Given the description of an element on the screen output the (x, y) to click on. 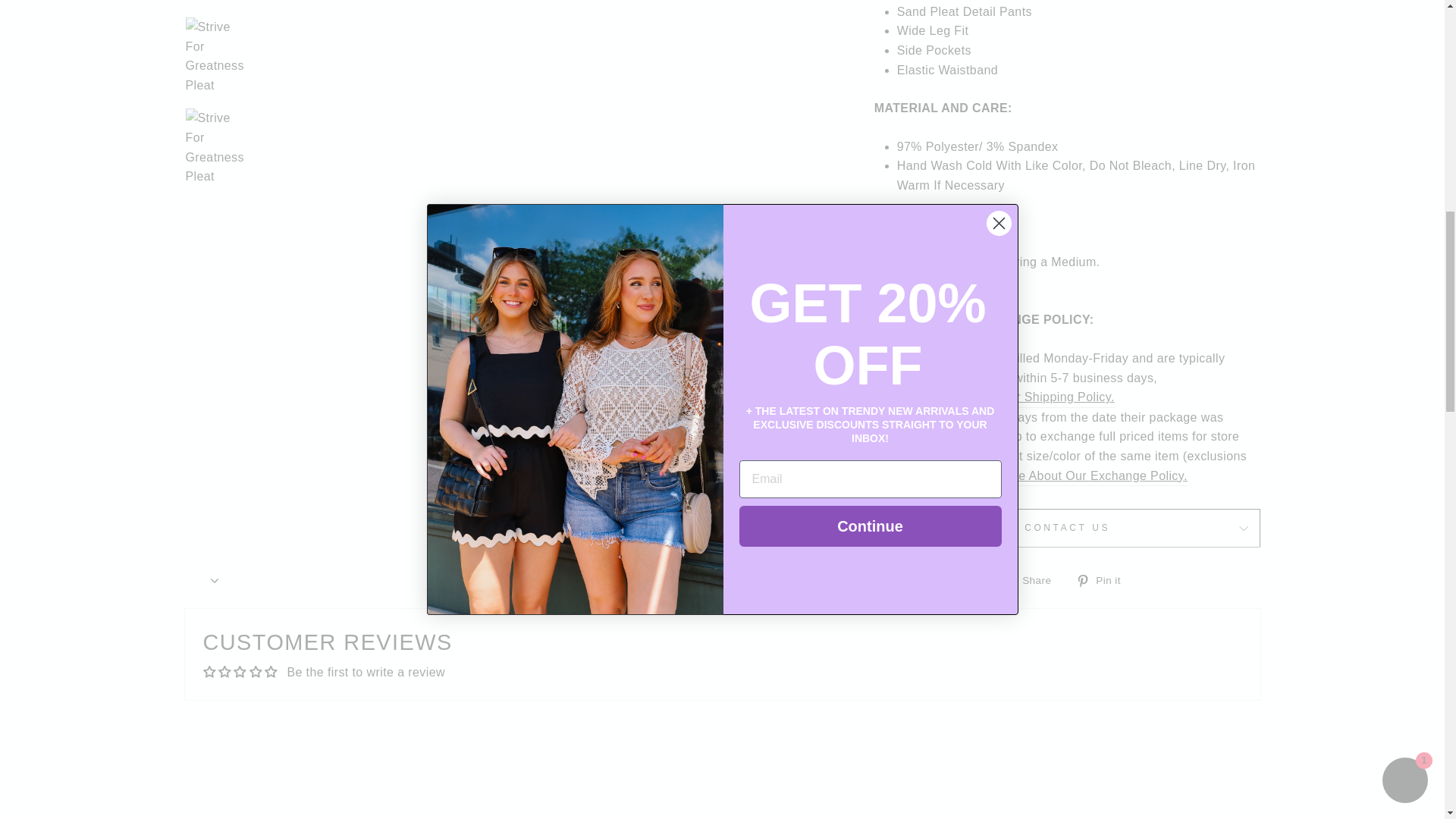
Share on Facebook (1032, 579)
Pin on Pinterest (1103, 579)
